Given the description of an element on the screen output the (x, y) to click on. 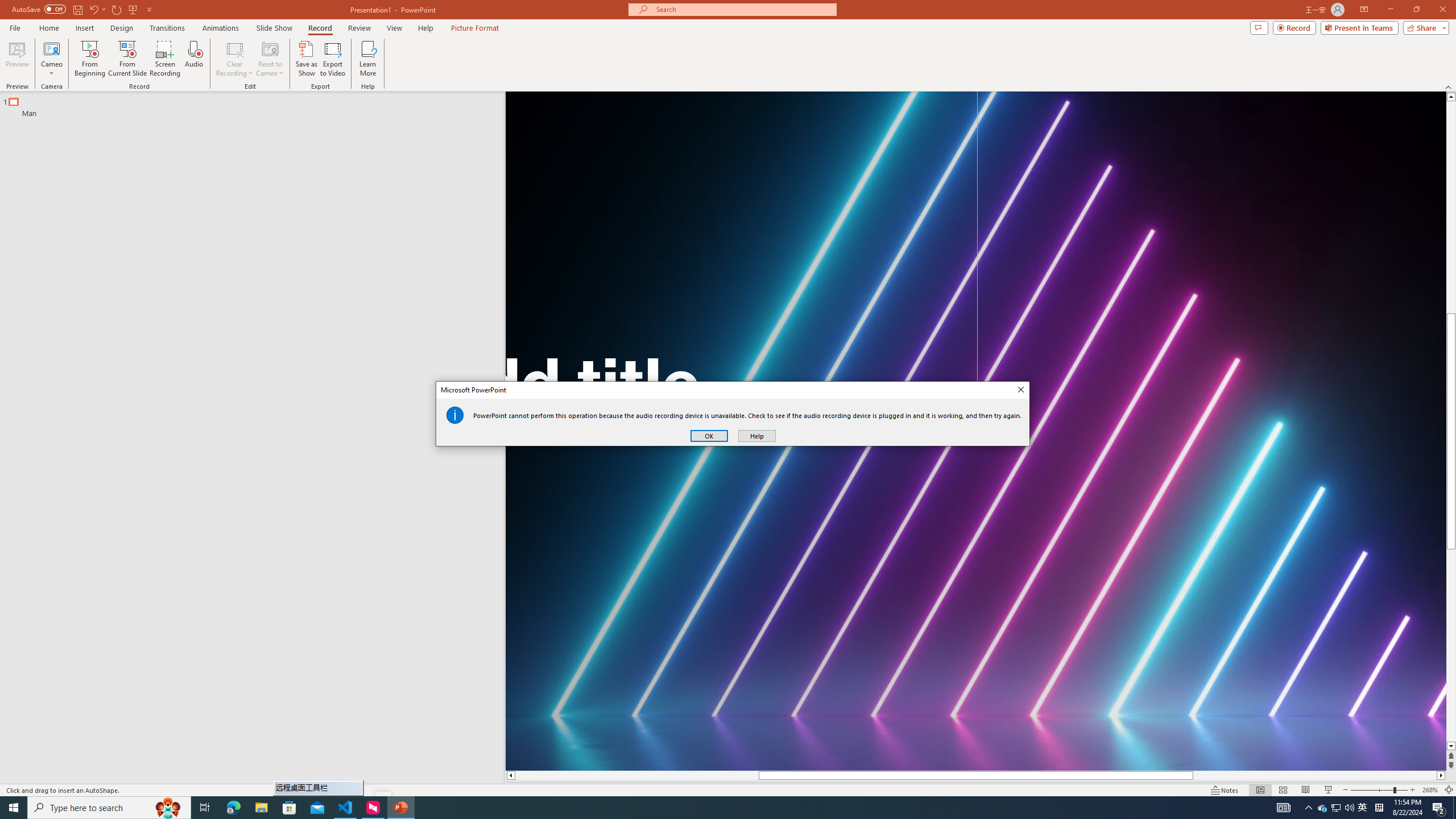
Outline (256, 104)
